Given the description of an element on the screen output the (x, y) to click on. 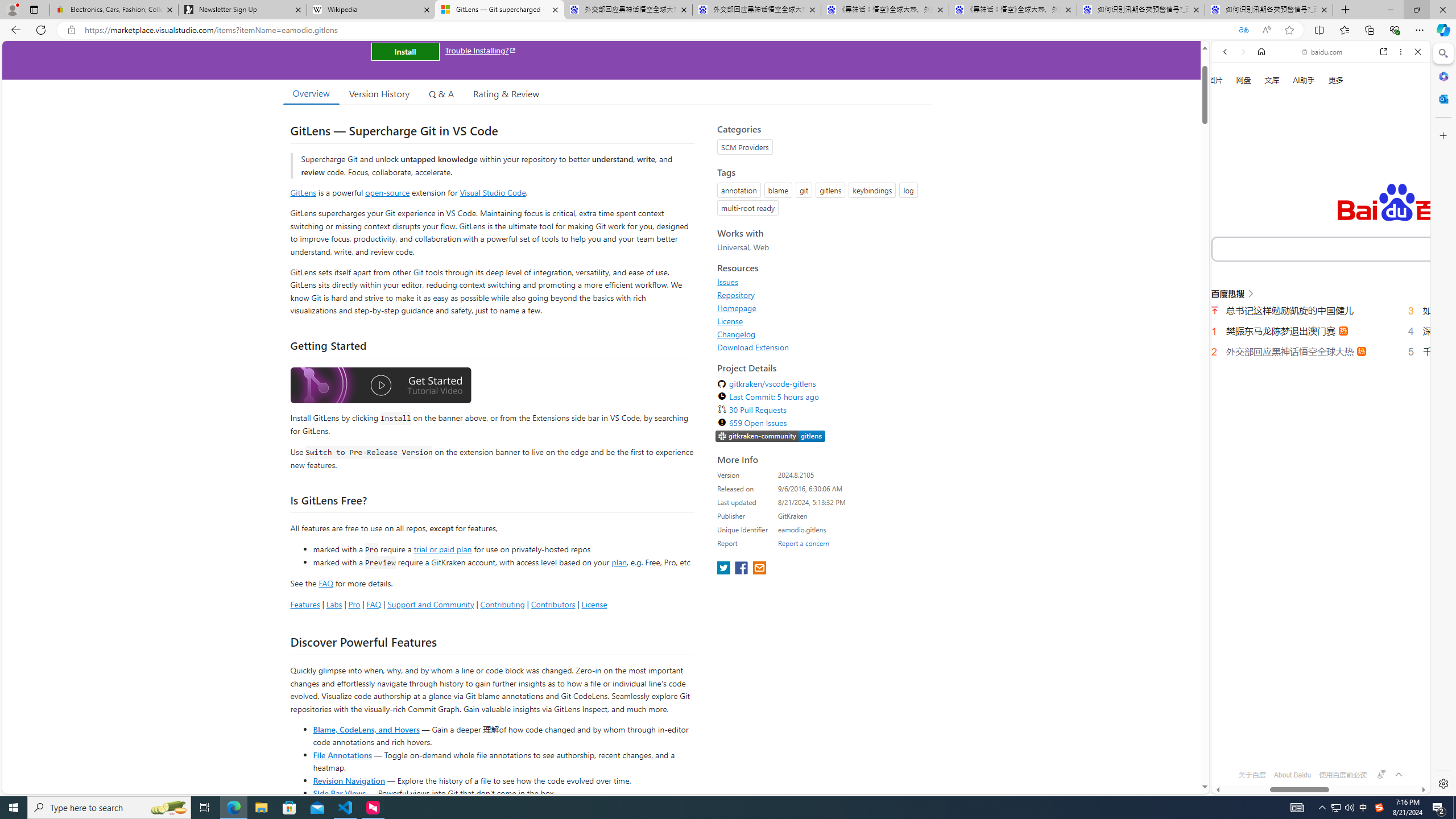
share extension on email (759, 568)
English (US) (1320, 329)
Install (405, 51)
English (Uk) (1320, 353)
GitLens (303, 192)
Pro (354, 603)
Contributing (502, 603)
Translated (1243, 29)
Changelog (736, 333)
Learn more (1264, 154)
